Given the description of an element on the screen output the (x, y) to click on. 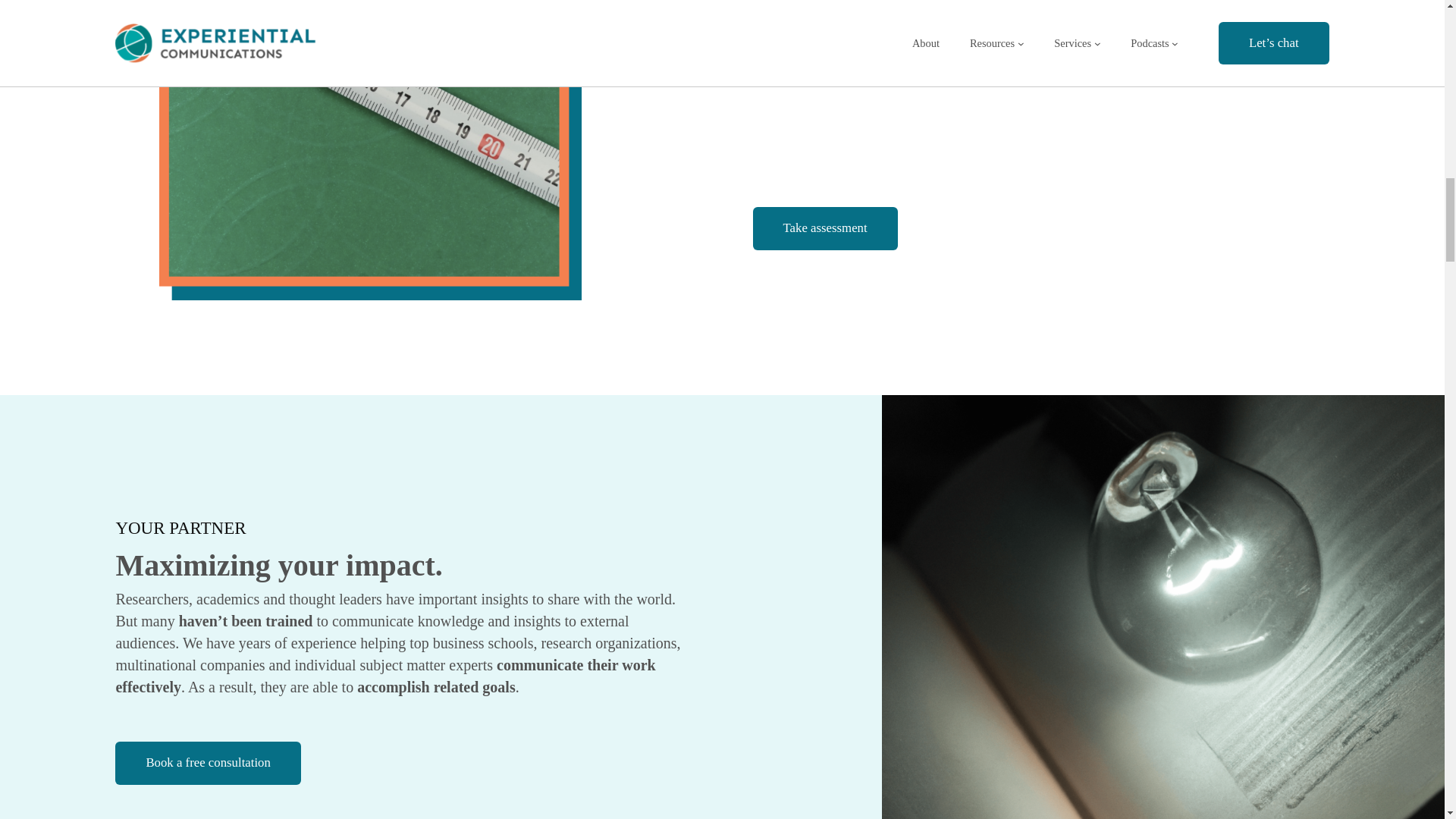
Book a free consultation (208, 762)
Take assessment (824, 228)
